Given the description of an element on the screen output the (x, y) to click on. 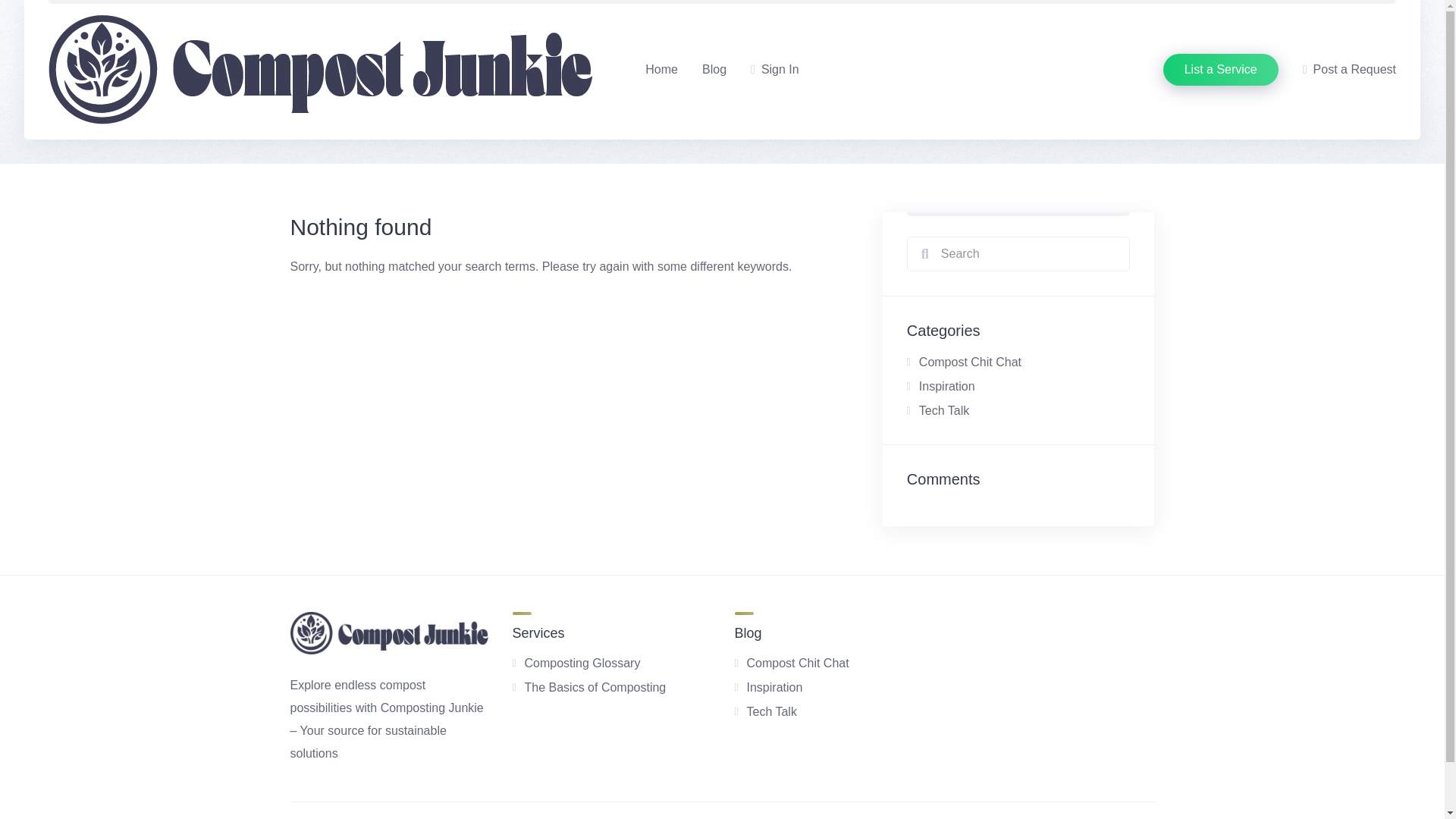
Tech Talk (943, 410)
Composting Glossary (582, 662)
Compost Chit Chat (796, 662)
Tech Talk (770, 711)
Blog (713, 69)
Home (661, 69)
The Basics of Composting (595, 686)
Inspiration (773, 686)
Compost Chit Chat (970, 361)
Sign In (775, 69)
List a Service (1220, 69)
Post a Request (1349, 69)
Inspiration (946, 386)
